Given the description of an element on the screen output the (x, y) to click on. 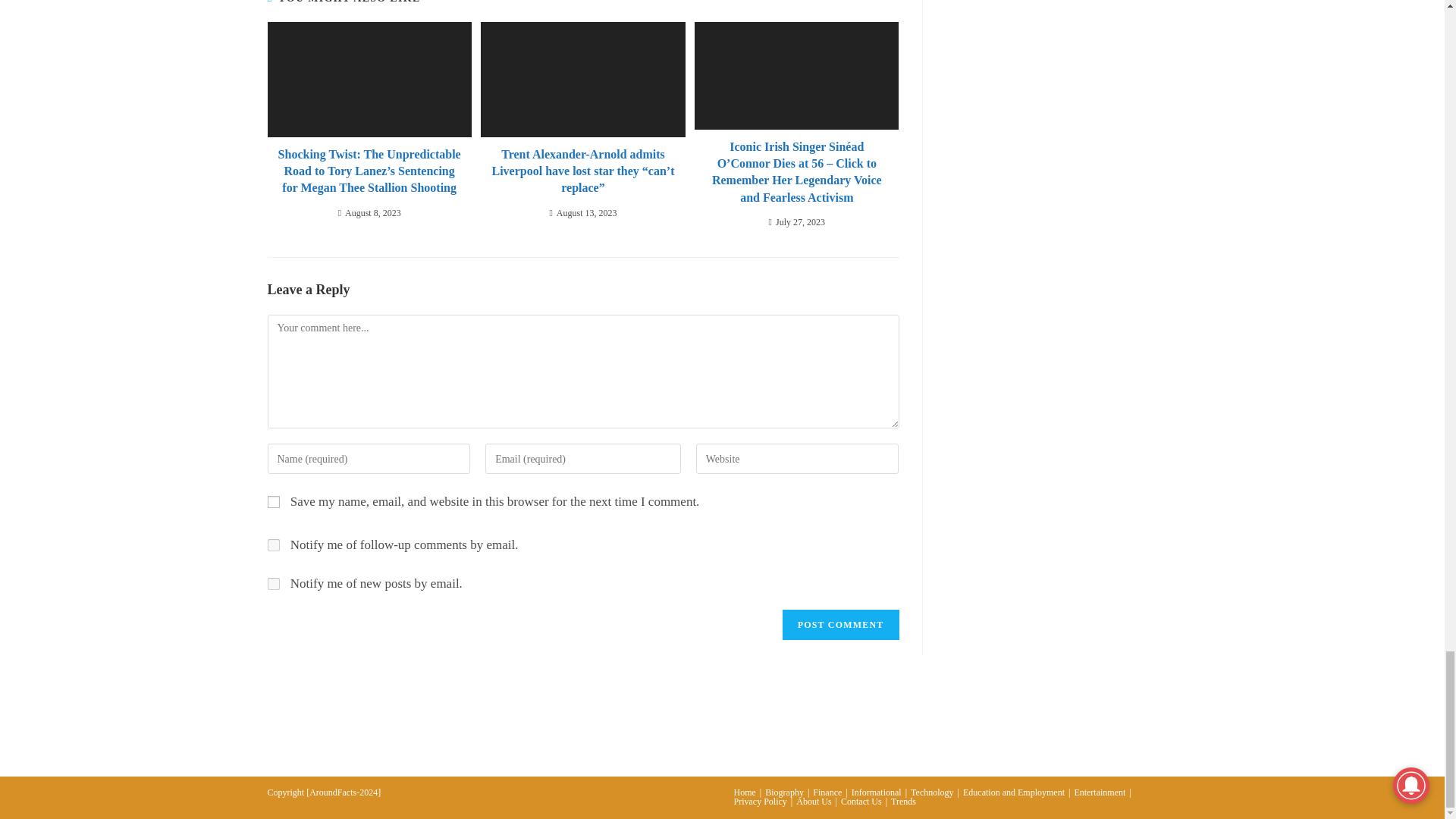
Post Comment (841, 624)
yes (272, 501)
subscribe (272, 544)
subscribe (272, 583)
